Given the description of an element on the screen output the (x, y) to click on. 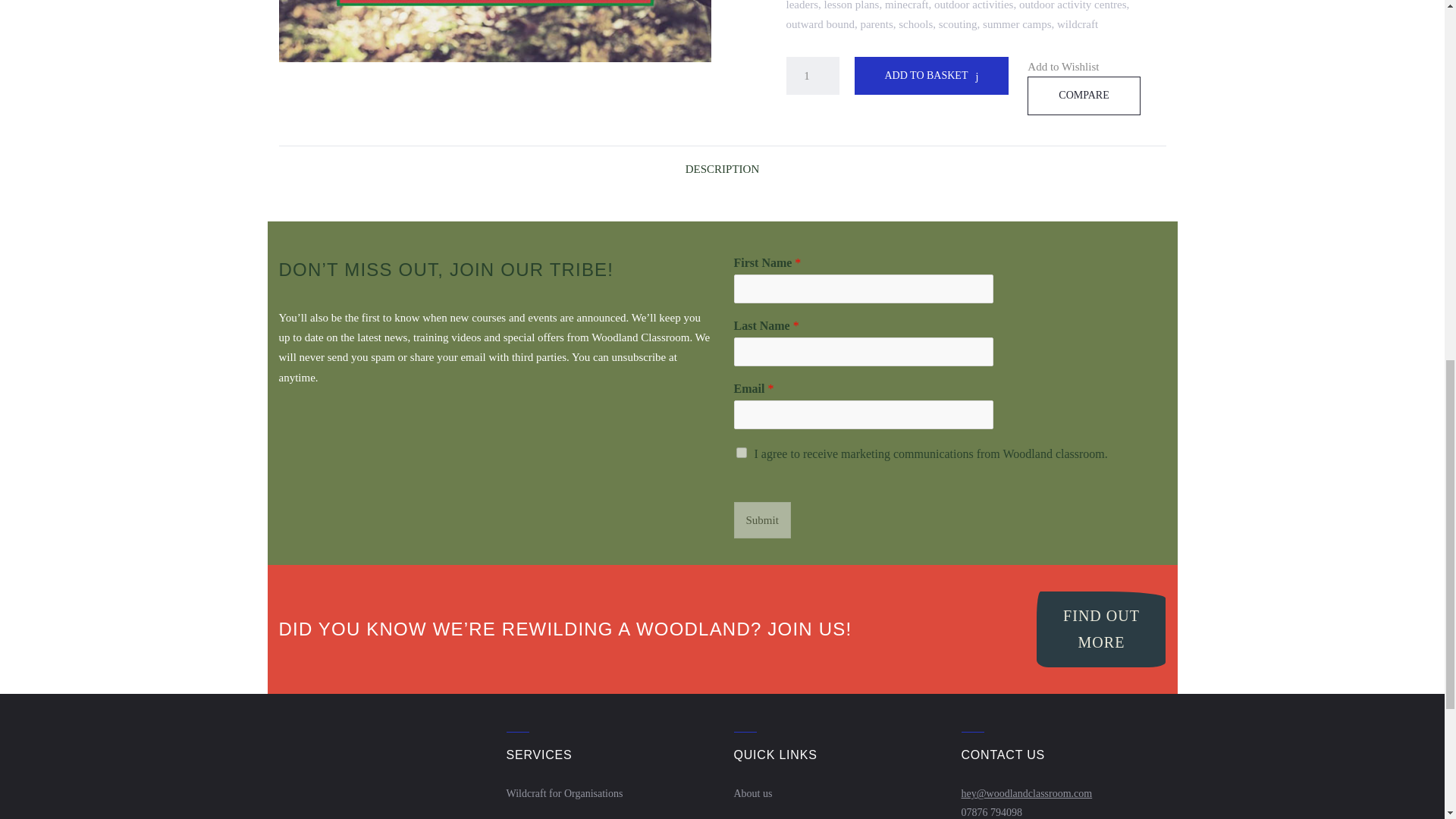
Qty (812, 75)
gift-voucher-30 (495, 31)
1 (812, 75)
